Given the description of an element on the screen output the (x, y) to click on. 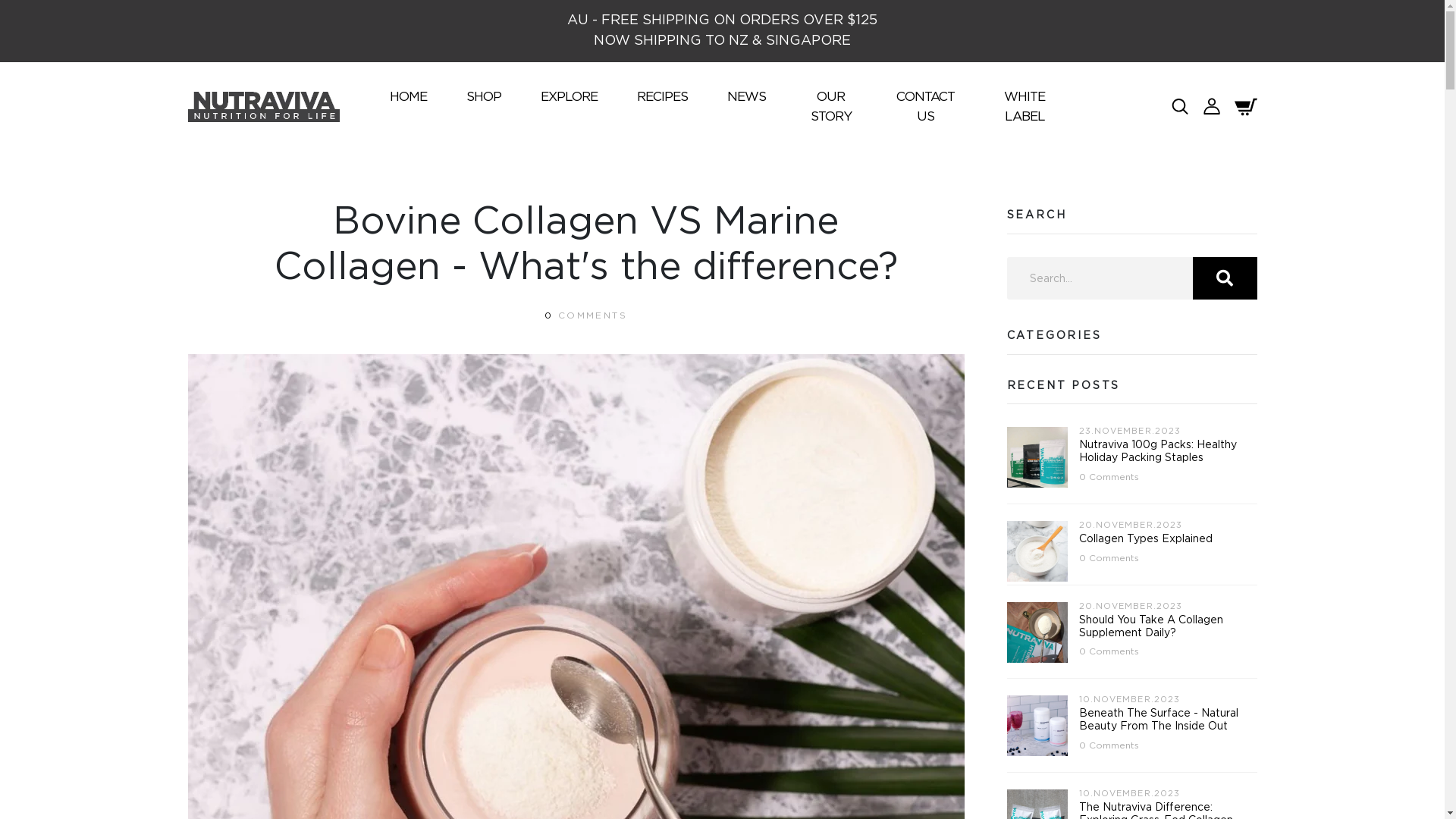
OUR STORY Element type: text (830, 106)
Collagen Types Explained Element type: text (1144, 538)
CONTACT US Element type: text (925, 106)
image/svg+xml Element type: text (1179, 104)
Beneath The Surface - Natural Beauty From The Inside Out Element type: text (1157, 719)
HOME Element type: text (408, 96)
RECIPES Element type: text (661, 96)
EXPLORE Element type: text (567, 96)
WHITE LABEL Element type: text (1024, 106)
0 Element type: text (548, 315)
Should You Take A Collagen Supplement Daily? Element type: text (1150, 626)
image/svg+xml Element type: text (1211, 104)
register Element type: text (722, 725)
SHOP Element type: text (482, 96)
NEWS Element type: text (745, 96)
Nutraviva 100g Packs: Healthy Holiday Packing Staples Element type: text (1157, 451)
Log In Element type: text (722, 463)
